Given the description of an element on the screen output the (x, y) to click on. 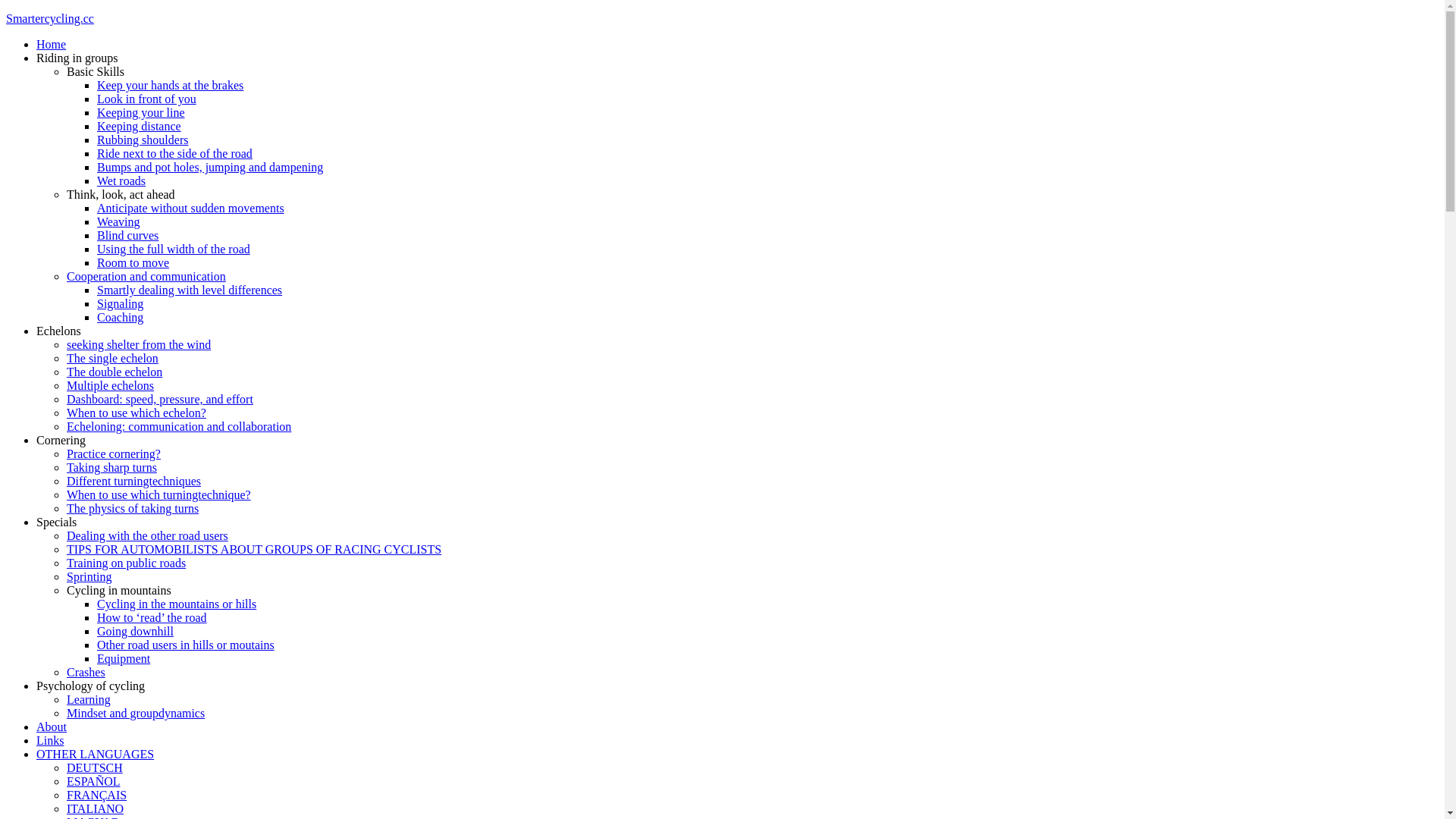
Sprinting Element type: text (89, 576)
Riding in groups Element type: text (77, 57)
Smartercycling.cc Element type: text (50, 18)
Bumps and pot holes, jumping and dampening Element type: text (210, 166)
Keeping your line Element type: text (141, 112)
Equipment Element type: text (123, 658)
Weaving Element type: text (118, 221)
Ride next to the side of the road Element type: text (174, 153)
Cycling in the mountains or hills Element type: text (176, 603)
Echelons Element type: text (58, 330)
Coaching Element type: text (120, 316)
Room to move Element type: text (133, 262)
Crashes Element type: text (85, 671)
Keeping distance Element type: text (139, 125)
Anticipate without sudden movements Element type: text (190, 207)
Other road users in hills or moutains Element type: text (185, 644)
Echeloning: communication and collaboration Element type: text (178, 426)
Smartly dealing with level differences Element type: text (189, 289)
Dealing with the other road users Element type: text (147, 535)
Learning Element type: text (88, 699)
TIPS FOR AUTOMOBILISTS ABOUT GROUPS OF RACING CYCLISTS Element type: text (253, 548)
Using the full width of the road Element type: text (173, 248)
About Element type: text (51, 726)
Dashboard: speed, pressure, and effort Element type: text (159, 398)
Basic Skills Element type: text (95, 71)
DEUTSCH Element type: text (94, 767)
Look in front of you Element type: text (146, 98)
Cornering Element type: text (60, 439)
ITALIANO Element type: text (94, 808)
The physics of taking turns Element type: text (132, 508)
Training on public roads Element type: text (125, 562)
Rubbing shoulders Element type: text (142, 139)
When to use which echelon? Element type: text (136, 412)
seeking shelter from the wind Element type: text (138, 344)
Going downhill Element type: text (135, 630)
The single echelon Element type: text (112, 357)
Psychology of cycling Element type: text (90, 685)
Practice cornering? Element type: text (113, 453)
Blind curves Element type: text (127, 235)
Multiple echelons Element type: text (109, 385)
Different turningtechniques Element type: text (133, 480)
Taking sharp turns Element type: text (111, 467)
Keep your hands at the brakes Element type: text (170, 84)
Specials Element type: text (56, 521)
Signaling Element type: text (120, 303)
Cooperation and communication Element type: text (145, 275)
Links Element type: text (49, 740)
Wet roads Element type: text (121, 180)
Think, look, act ahead Element type: text (120, 194)
When to use which turningtechnique? Element type: text (158, 494)
OTHER LANGUAGES Element type: text (94, 753)
Cycling in mountains Element type: text (118, 589)
Mindset and groupdynamics Element type: text (135, 712)
Home Element type: text (50, 43)
The double echelon Element type: text (114, 371)
